Given the description of an element on the screen output the (x, y) to click on. 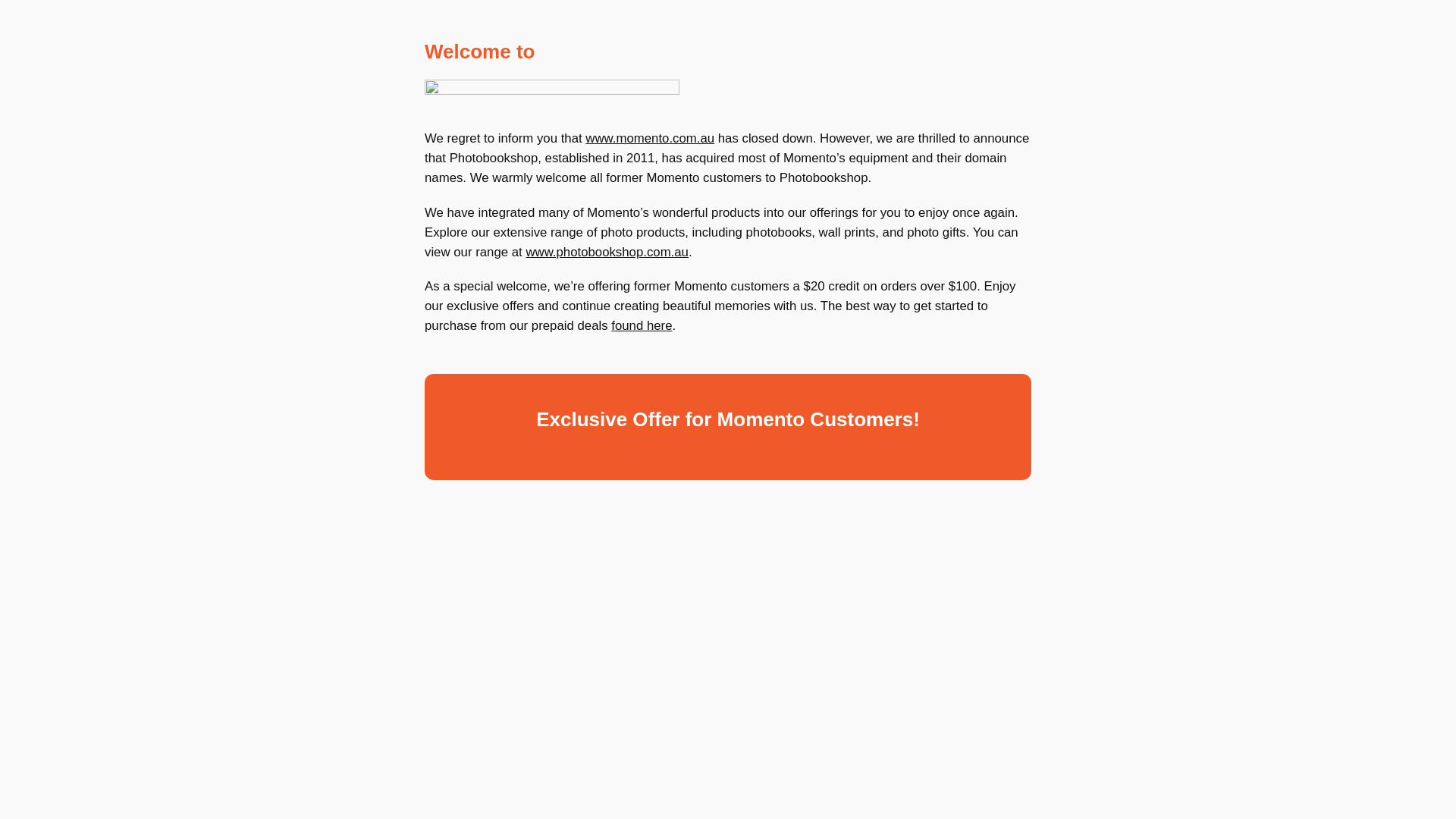
www.momento.com.au (649, 138)
found here (641, 325)
www.photobookshop.com.au (606, 251)
